Given the description of an element on the screen output the (x, y) to click on. 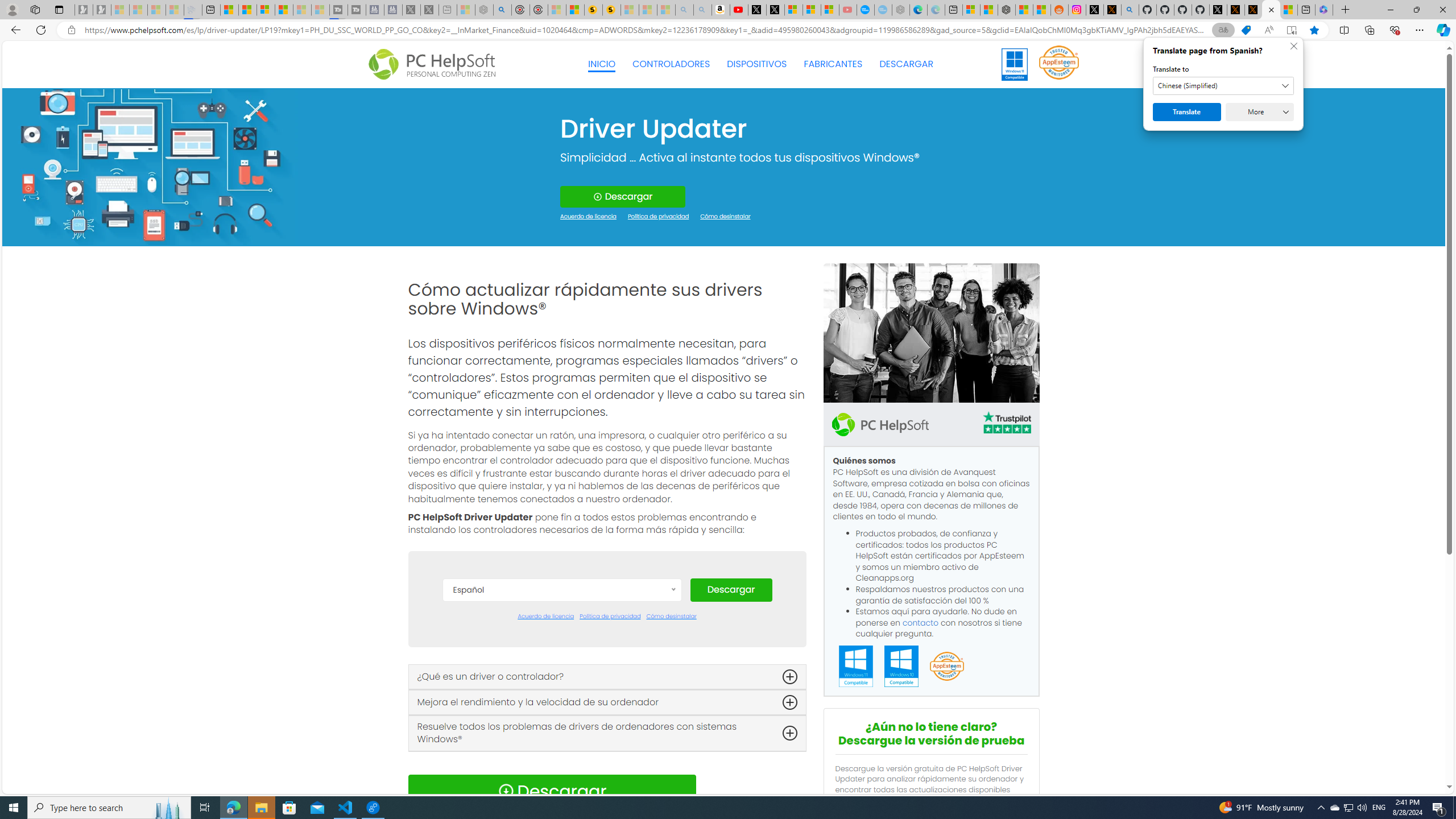
English (561, 695)
Login | Microsoft 365 (1324, 9)
Opinion: Op-Ed and Commentary - USA TODAY (865, 9)
App Esteem (945, 666)
INICIO (601, 64)
DISPOSITIVOS (756, 64)
FABRICANTES (833, 64)
CONTROLADORES (670, 64)
PCHelpsoft (879, 423)
Translate (1187, 112)
